Given the description of an element on the screen output the (x, y) to click on. 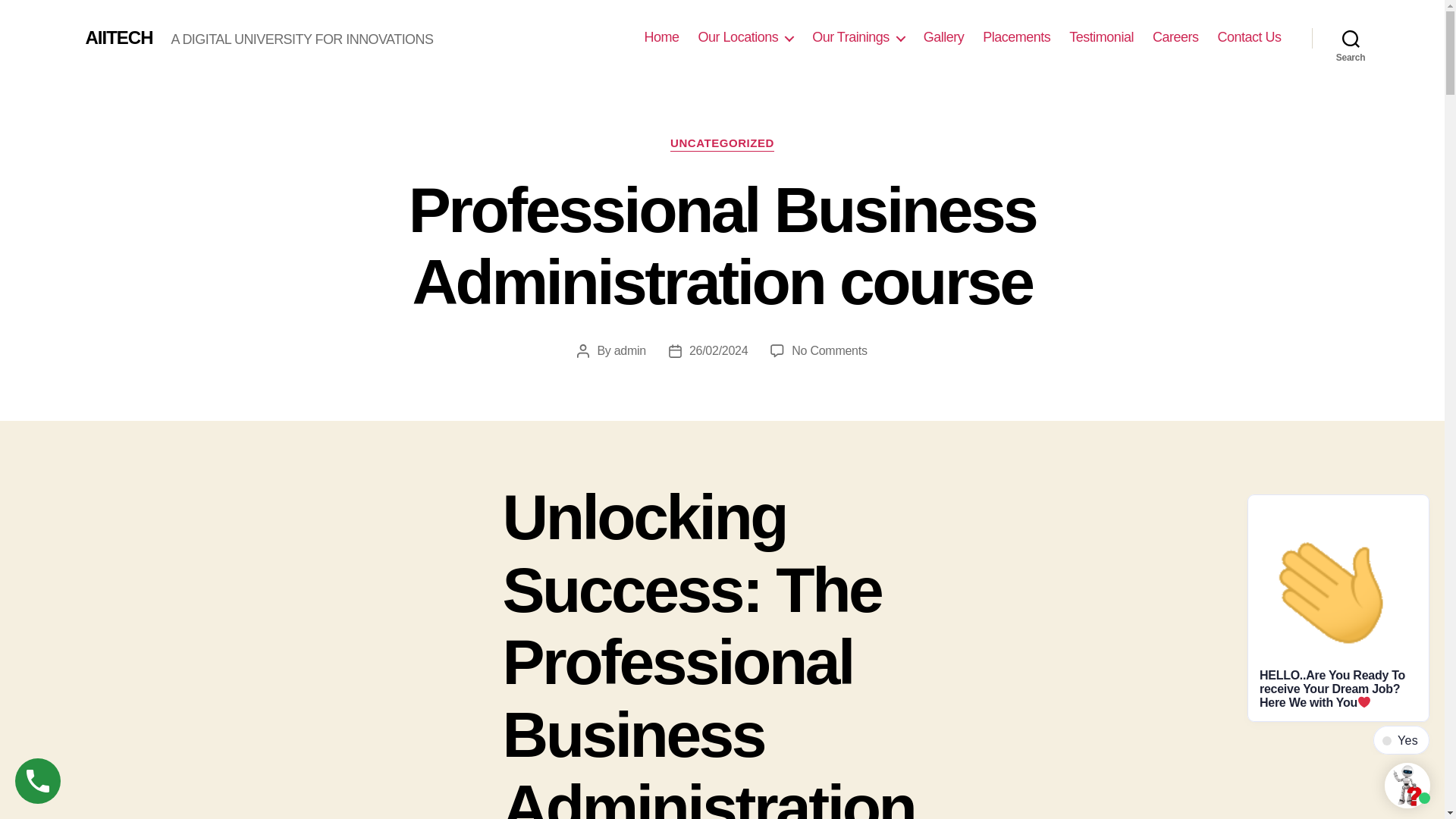
Testimonial (1101, 37)
Home (662, 37)
Search (1350, 37)
Gallery (943, 37)
Careers (1175, 37)
AIITECH (118, 37)
Contact Us (1249, 37)
Our Trainings (858, 37)
Our Locations (745, 37)
Placements (1015, 37)
